Given the description of an element on the screen output the (x, y) to click on. 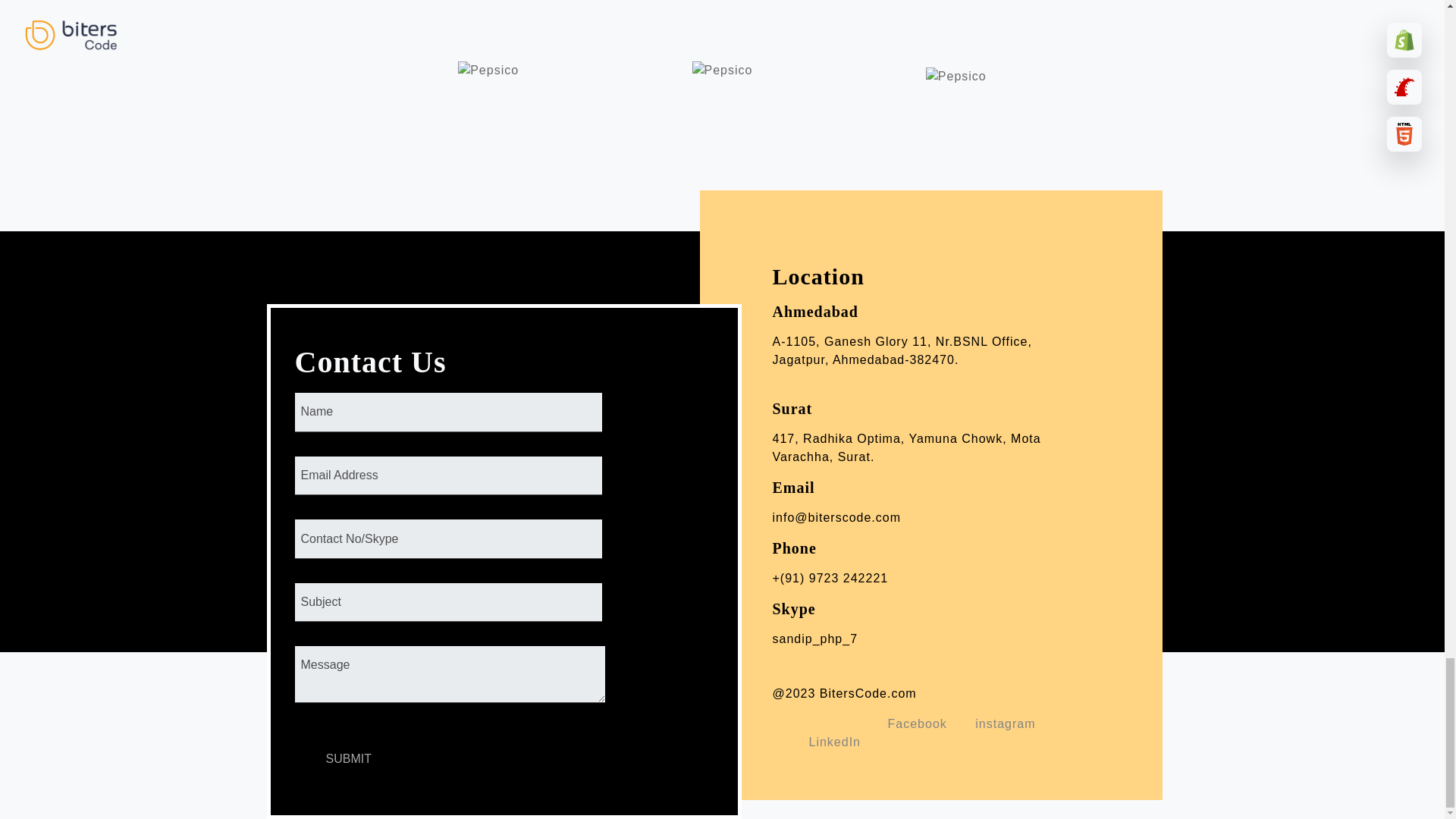
instagram (1005, 723)
LinkedIn (834, 741)
Facebook (917, 723)
SUBMIT (347, 758)
SUBMIT (347, 758)
